Given the description of an element on the screen output the (x, y) to click on. 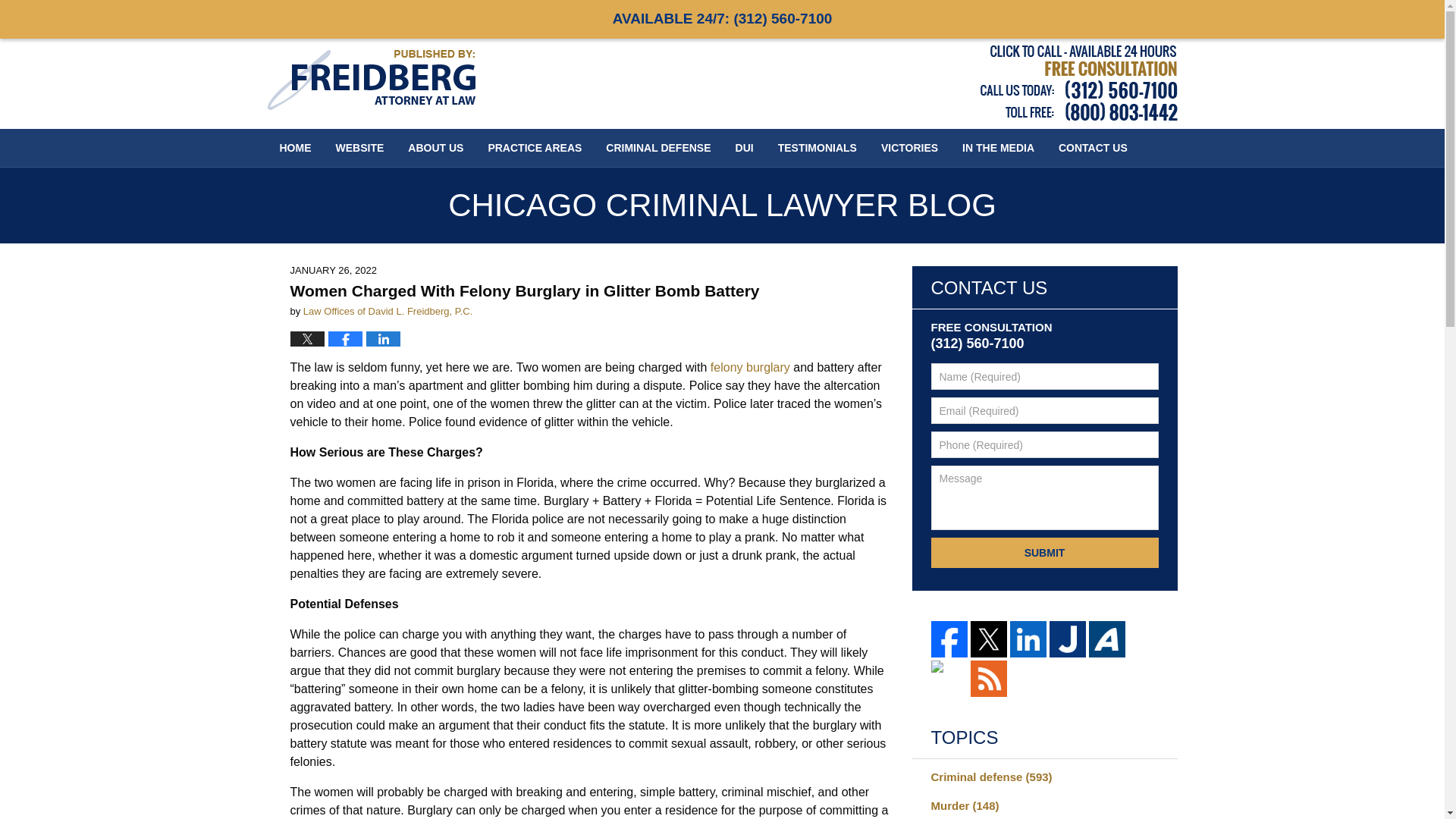
PRACTICE AREAS (535, 147)
ABOUT US (436, 147)
IN THE MEDIA (998, 147)
VICTORIES (909, 147)
HOME (294, 147)
Twitter (989, 638)
Feed (989, 678)
Facebook (949, 638)
CONTACT US (1093, 147)
Yelp (949, 678)
